Given the description of an element on the screen output the (x, y) to click on. 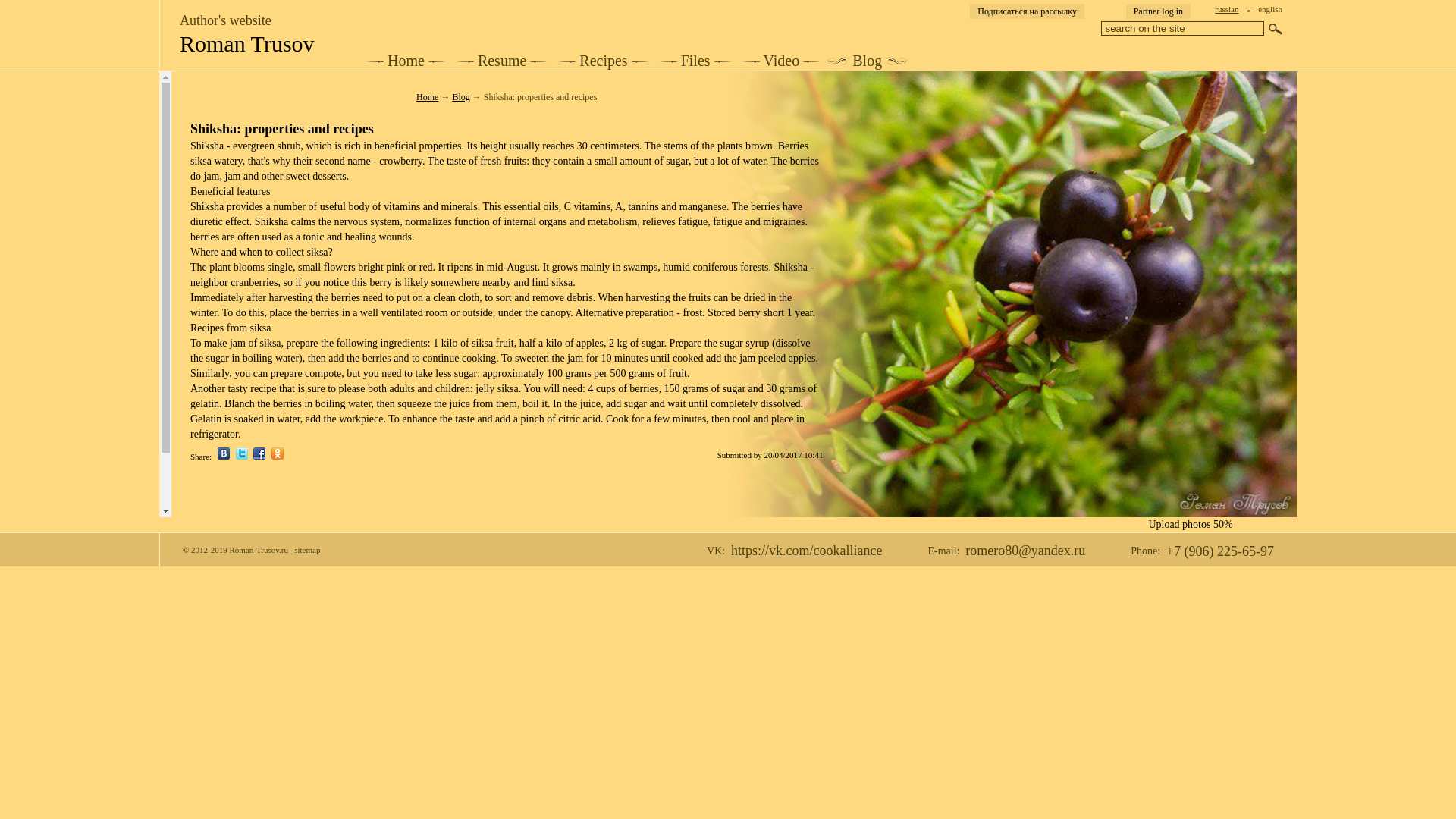
Home (427, 96)
russian (1226, 8)
Home (405, 60)
Recipes (602, 60)
Share on Facebook (258, 456)
Files (695, 60)
Home (405, 60)
Recipes (602, 60)
Blog (867, 60)
Video (781, 60)
